Given the description of an element on the screen output the (x, y) to click on. 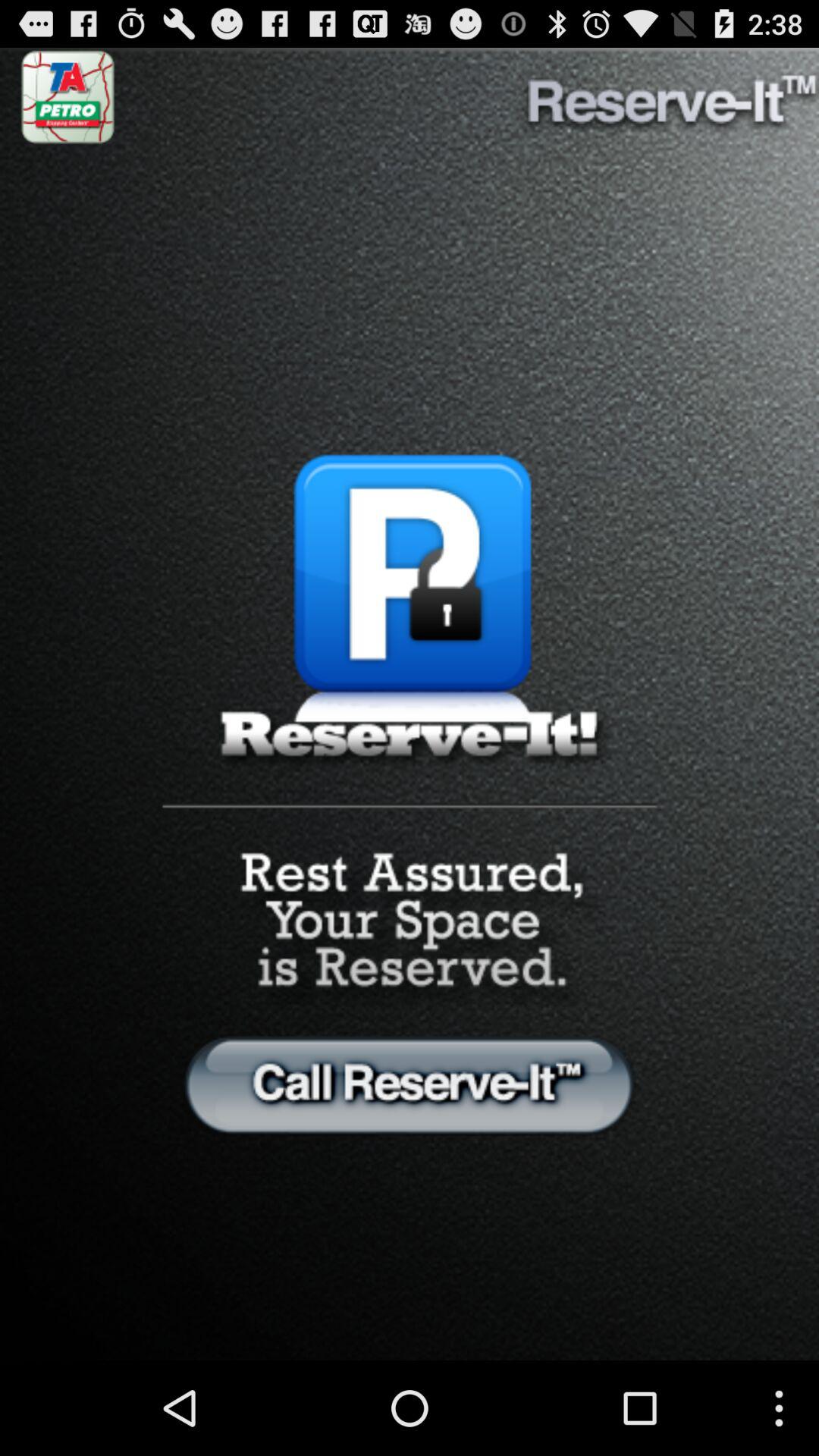
make a call (409, 1084)
